Given the description of an element on the screen output the (x, y) to click on. 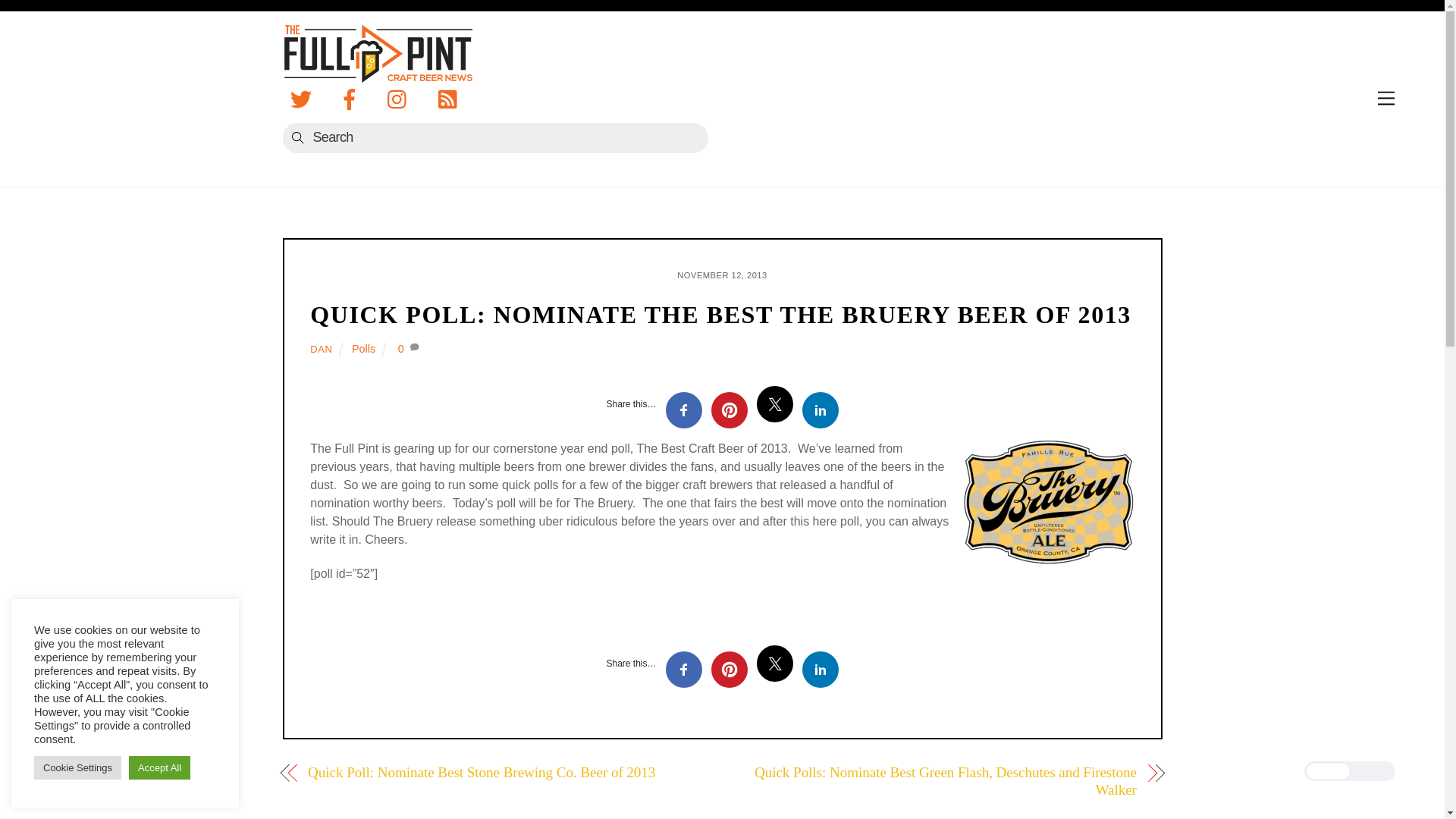
DAN (320, 348)
Menu (1385, 98)
The Full Pint - Craft Beer News (376, 53)
Polls (363, 348)
The Full Pint - Craft Beer News (376, 71)
Search (494, 137)
